Given the description of an element on the screen output the (x, y) to click on. 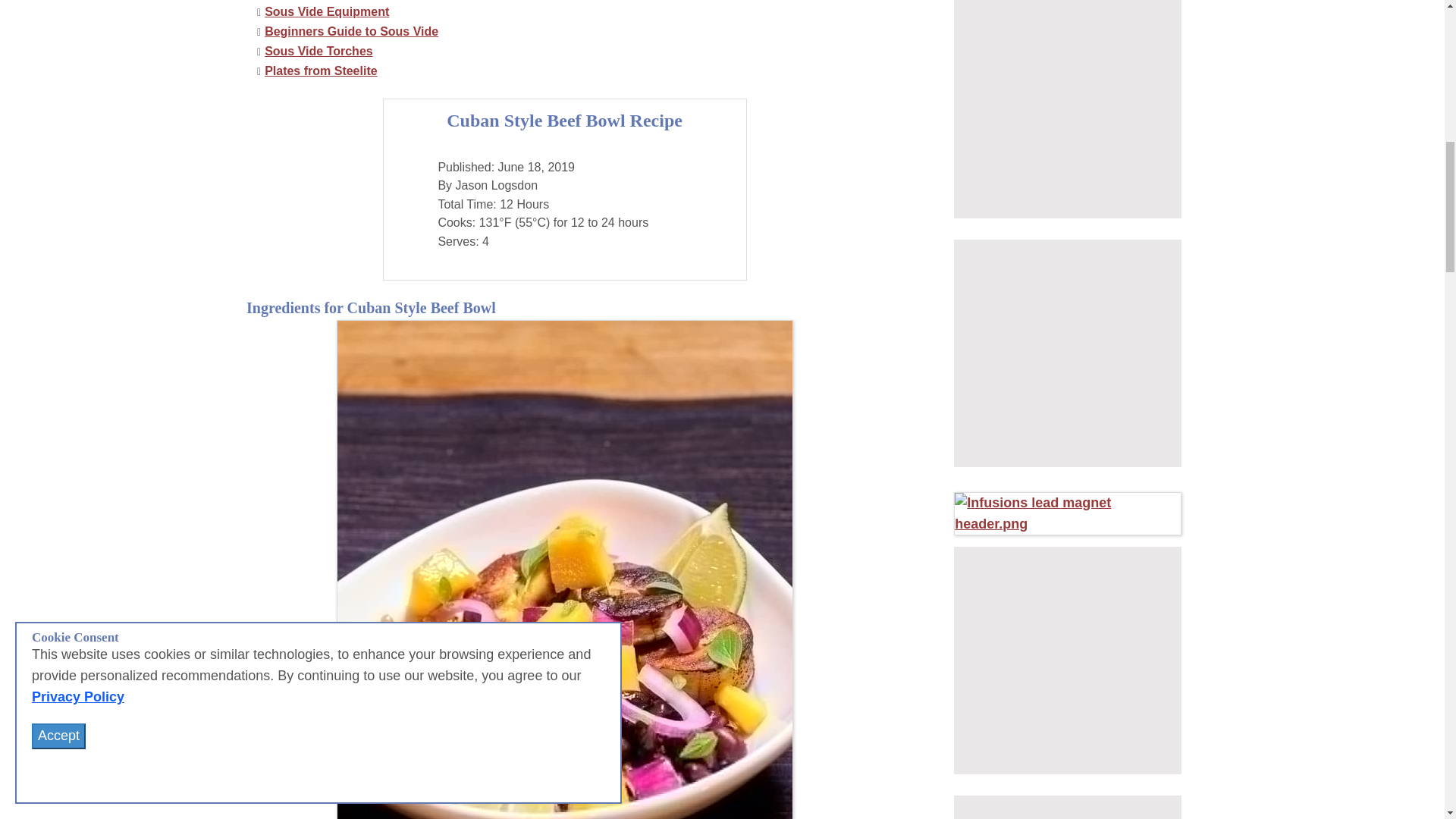
Sous vide help book side display2 (1066, 807)
Whipping siphon book side display (1066, 109)
Party Foods book cover large (1066, 352)
Infusions lead magnet header.png (1066, 514)
Mcmcegs book side display2 (1066, 660)
